Given the description of an element on the screen output the (x, y) to click on. 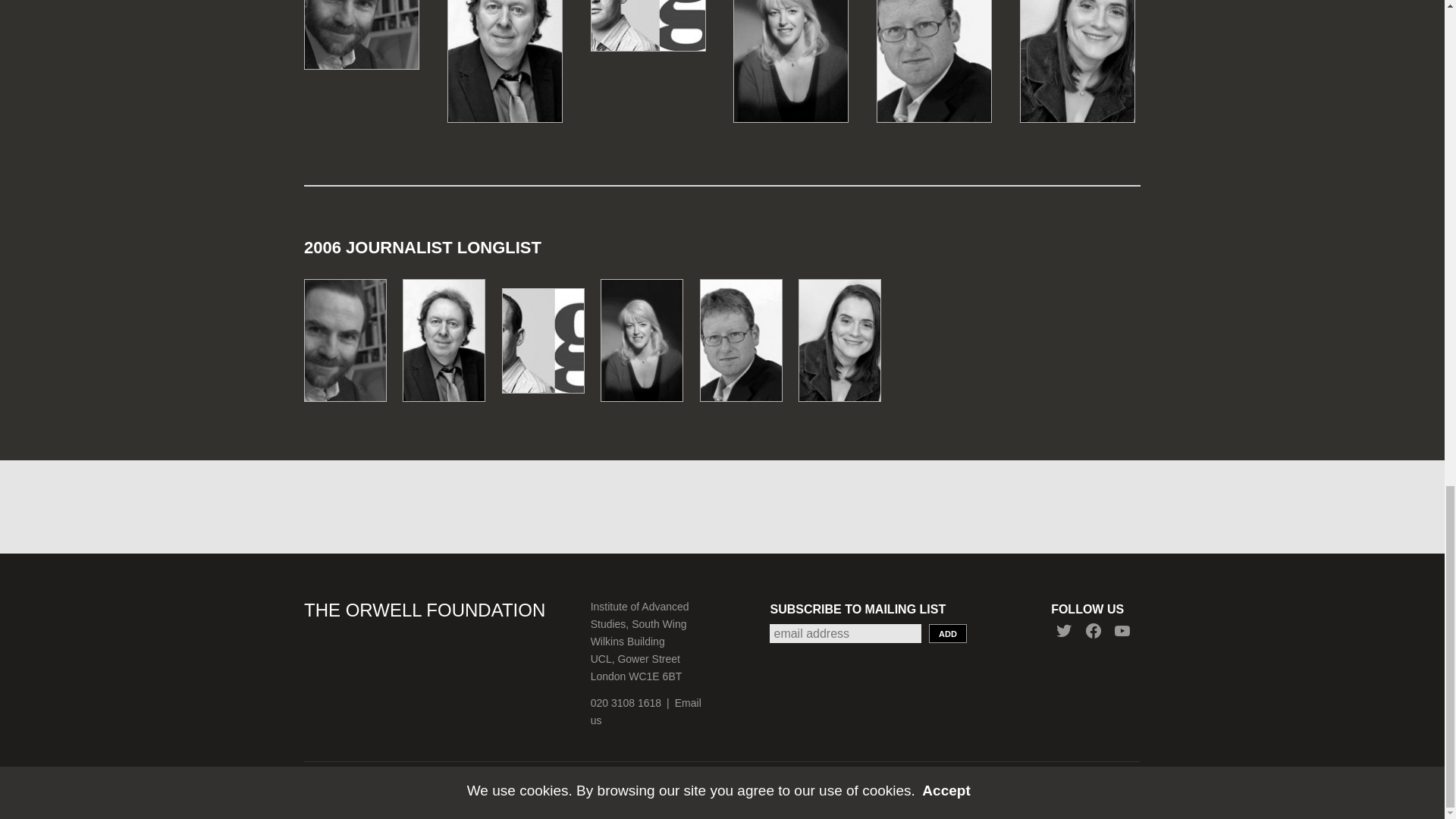
Oliver Burkeman (648, 4)
Bronwen Maddox (845, 345)
Jonathan Freedland (933, 38)
Lesley Riddoch (790, 38)
Bronwen Maddox (1077, 38)
Timothy Garton Ash (361, 11)
Oliver Burkeman (549, 345)
Lesley Riddoch (647, 345)
Jonathan Freedland (747, 345)
Steve Richards (504, 38)
Steve Richards (450, 345)
ADD (947, 633)
Timothy Garton Ash (351, 345)
